Given the description of an element on the screen output the (x, y) to click on. 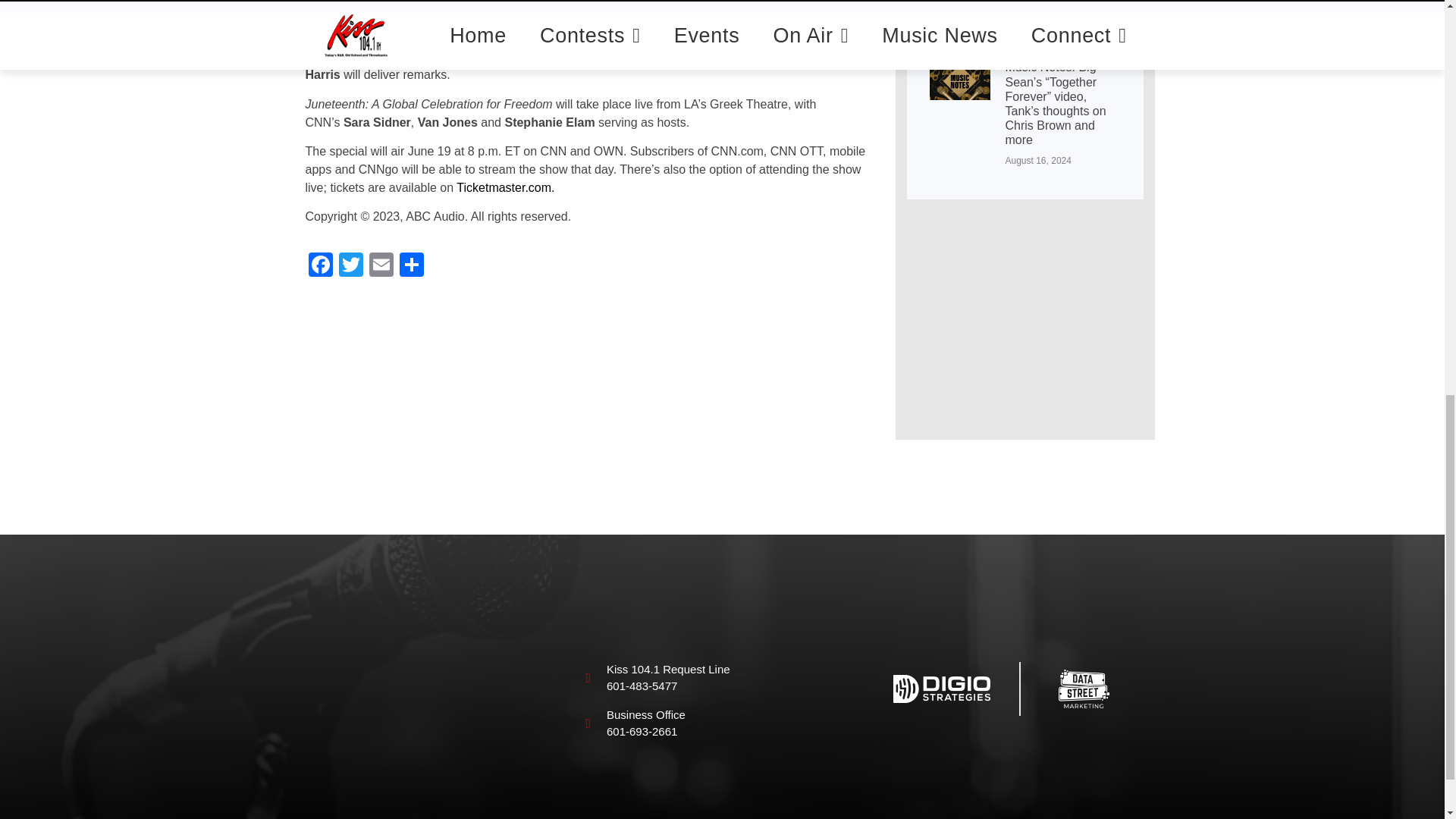
Email (380, 266)
Twitter (349, 266)
Facebook (319, 266)
